Given the description of an element on the screen output the (x, y) to click on. 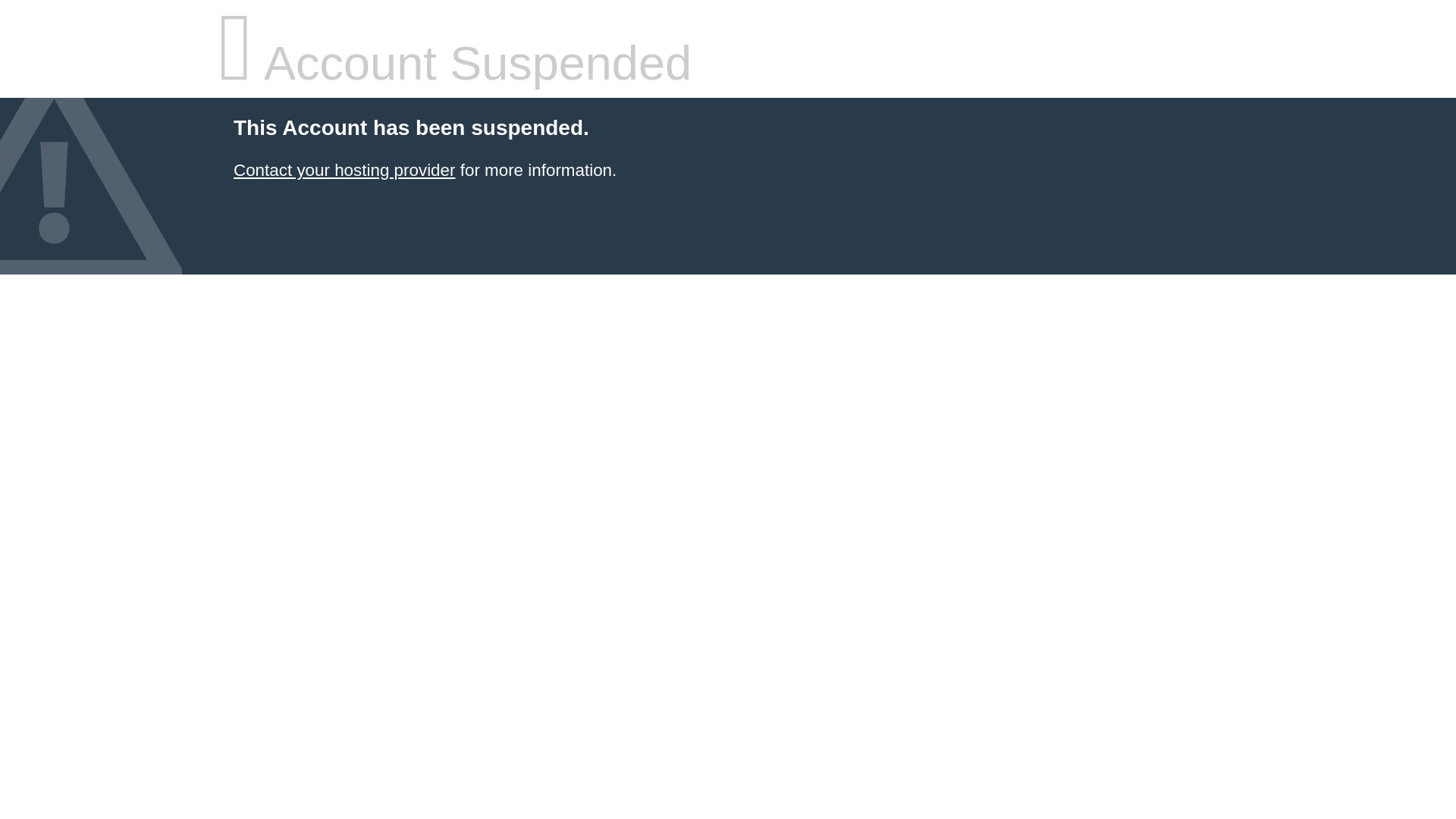
Contact your hosting provider (343, 169)
